Given the description of an element on the screen output the (x, y) to click on. 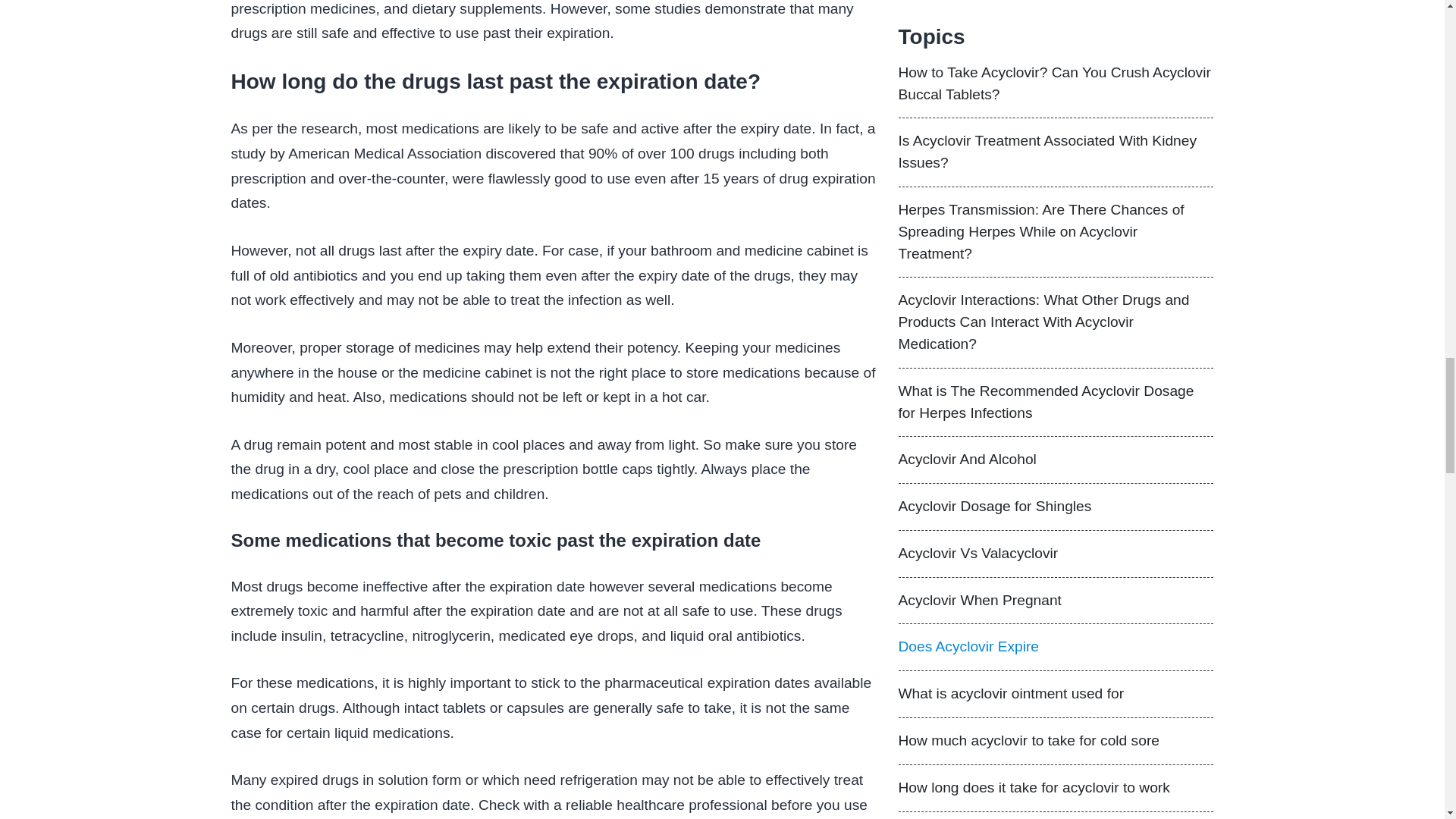
August 2023 (959, 496)
Buy Amoxil Online (1055, 191)
February 2024 (965, 453)
Nexium at Sale (1055, 240)
Chloroquine at Best Price (1055, 288)
July 2023 (948, 519)
February 2023 (965, 562)
May 2024 (949, 409)
January 2024 (962, 474)
April 2023 (951, 540)
